Given the description of an element on the screen output the (x, y) to click on. 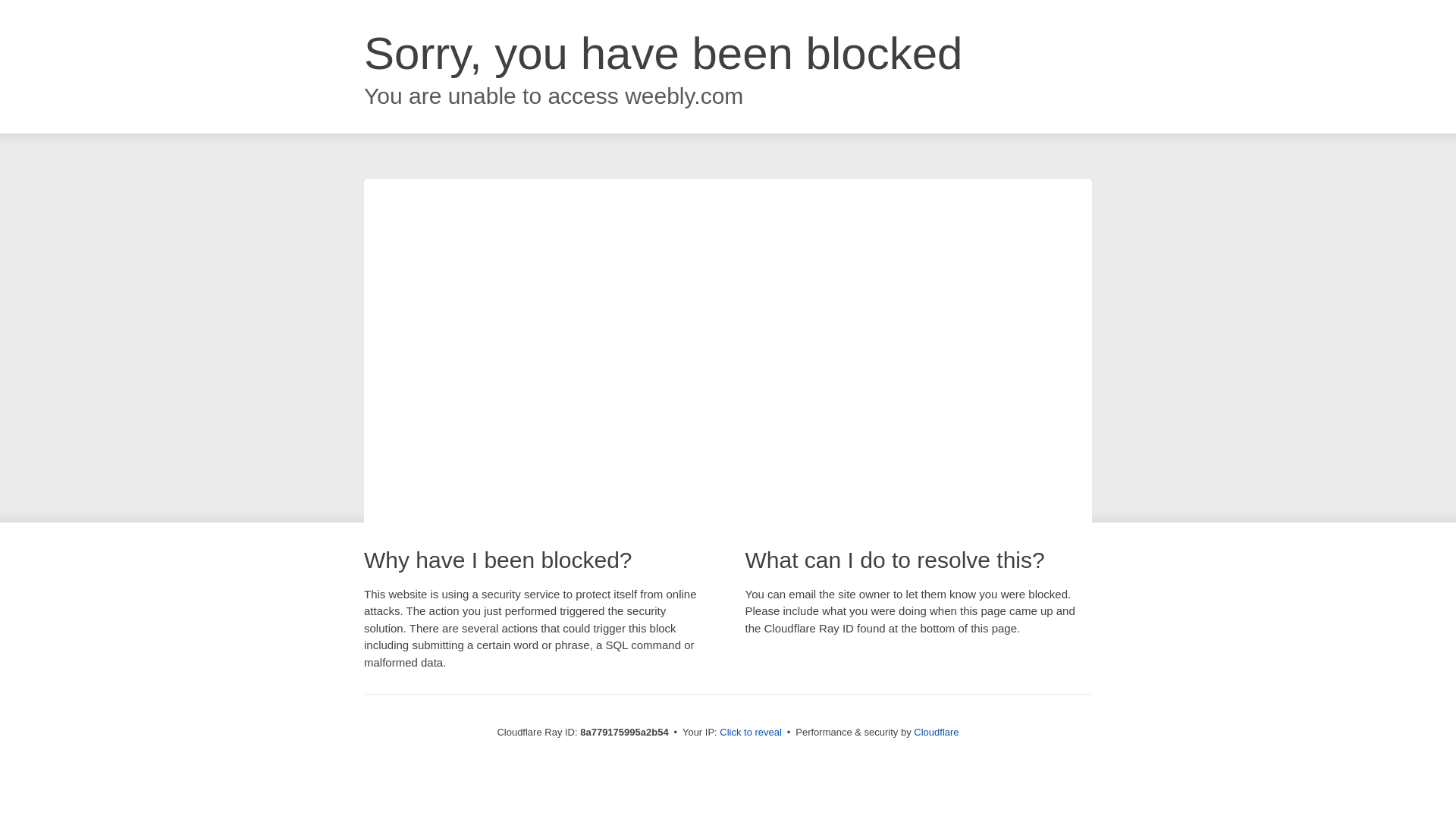
Cloudflare (936, 731)
Click to reveal (750, 732)
